Given the description of an element on the screen output the (x, y) to click on. 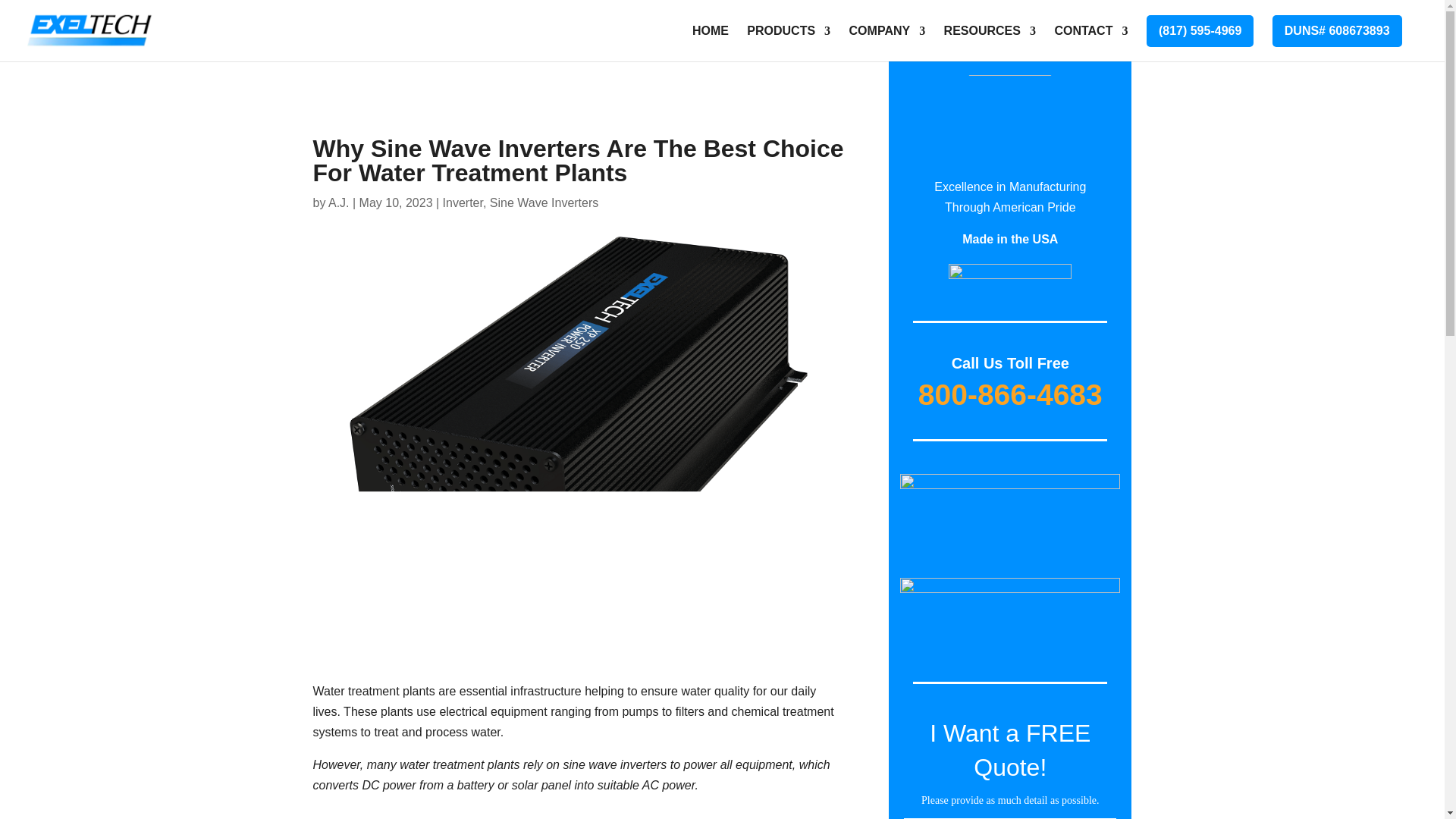
press-1 (1009, 618)
t9002 (1010, 287)
COMPANY (887, 43)
30Year (1010, 112)
HOME (711, 43)
Posts by A.J. (339, 202)
blogs (1009, 514)
RESOURCES (989, 43)
PRODUCTS (787, 43)
